Given the description of an element on the screen output the (x, y) to click on. 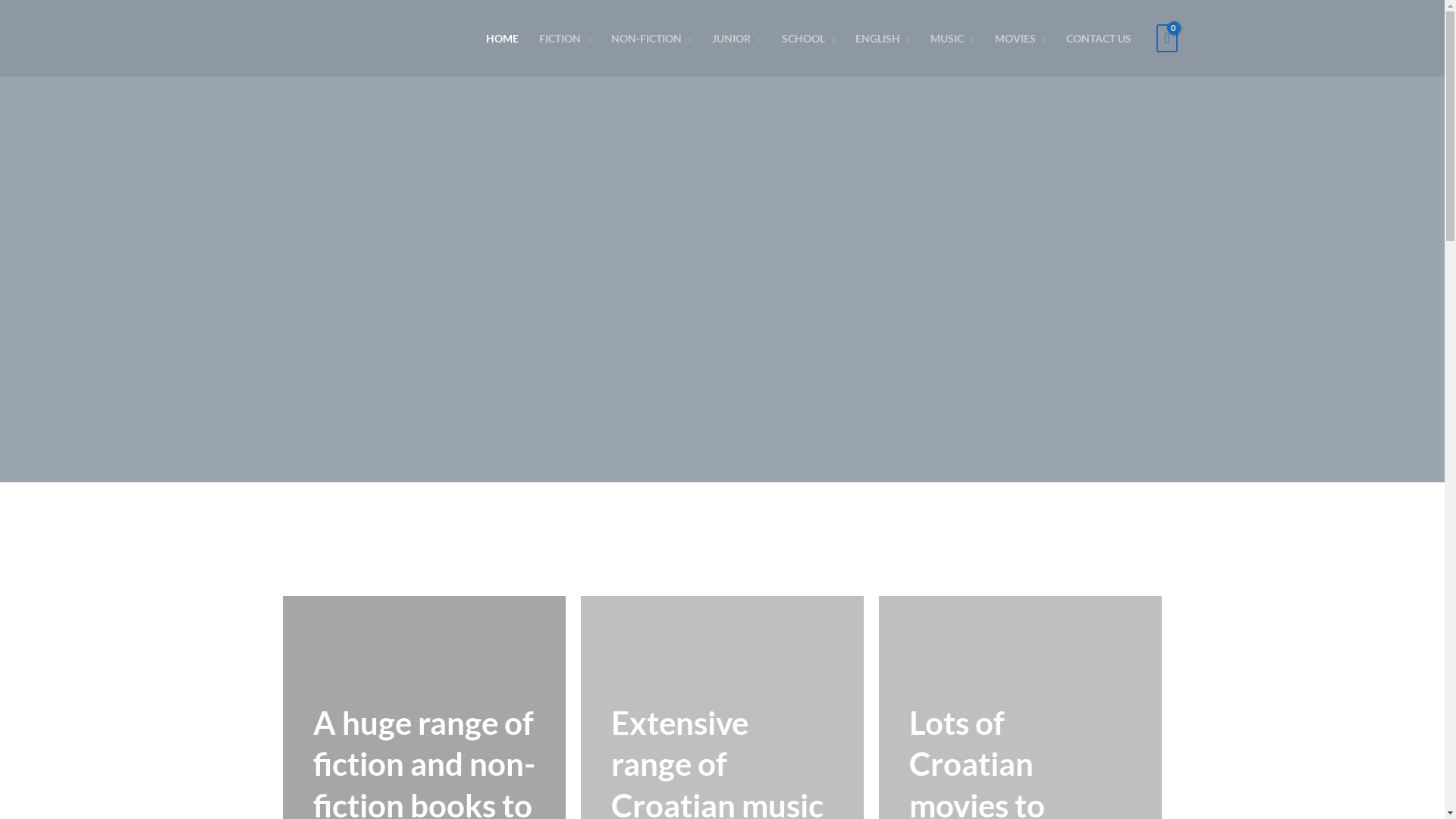
NON-FICTION Element type: text (651, 38)
MUSIC Element type: text (952, 38)
ENGLISH Element type: text (881, 38)
MOVIES Element type: text (1019, 38)
SCHOOL Element type: text (807, 38)
FICTION Element type: text (564, 38)
JUNIOR Element type: text (736, 38)
HOME Element type: text (501, 38)
CONTACT US Element type: text (1098, 38)
